Given the description of an element on the screen output the (x, y) to click on. 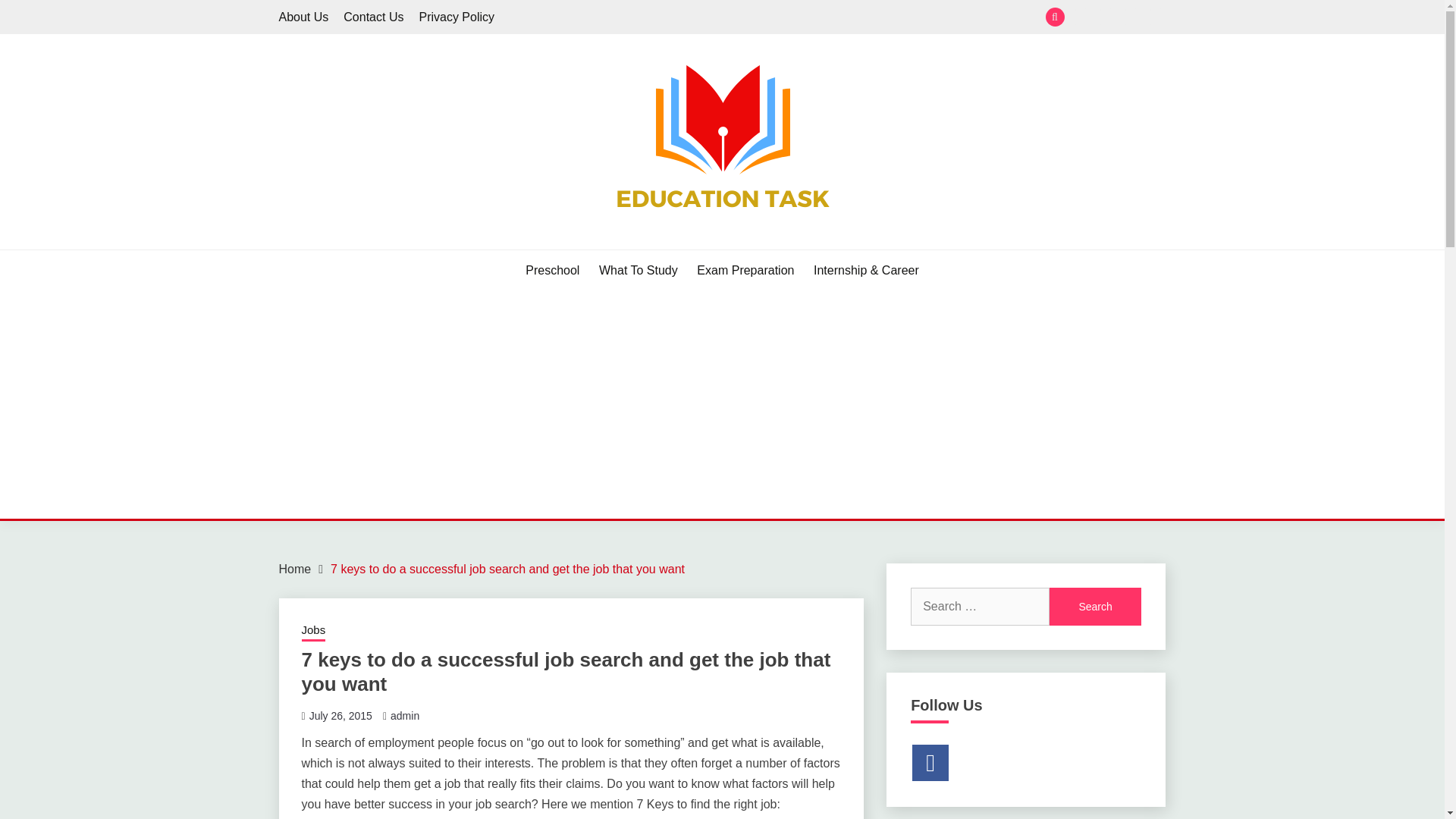
What To Study (1105, 16)
Exam Preparation (1131, 16)
EDUCATION TASK (401, 246)
Jobs (313, 631)
Search (1095, 606)
Privacy Policy (457, 16)
Facebook (930, 762)
Exam Preparation (745, 270)
Preschool (1080, 16)
